Given the description of an element on the screen output the (x, y) to click on. 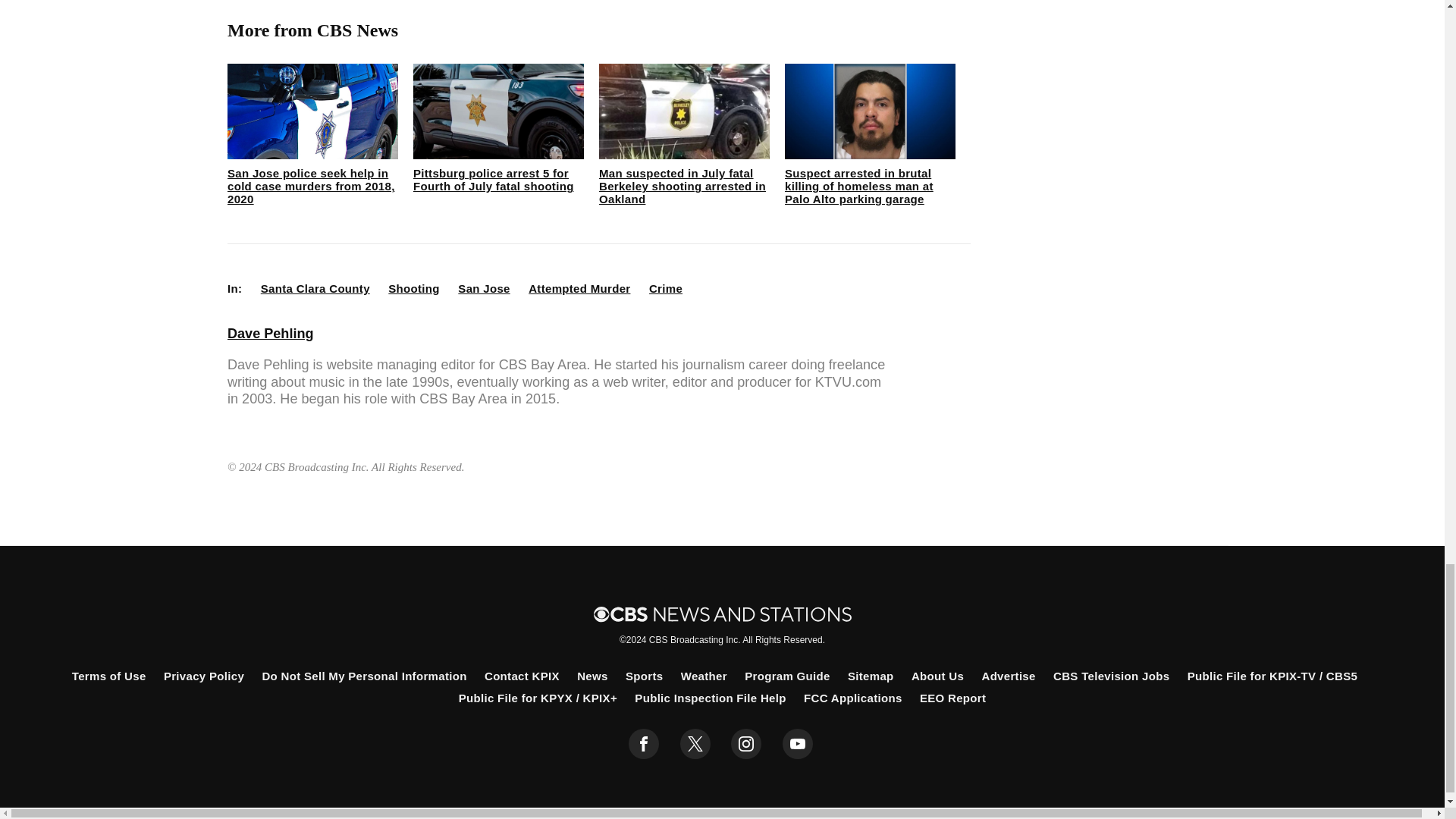
twitter (694, 743)
instagram (745, 743)
facebook (643, 743)
youtube (797, 743)
